Given the description of an element on the screen output the (x, y) to click on. 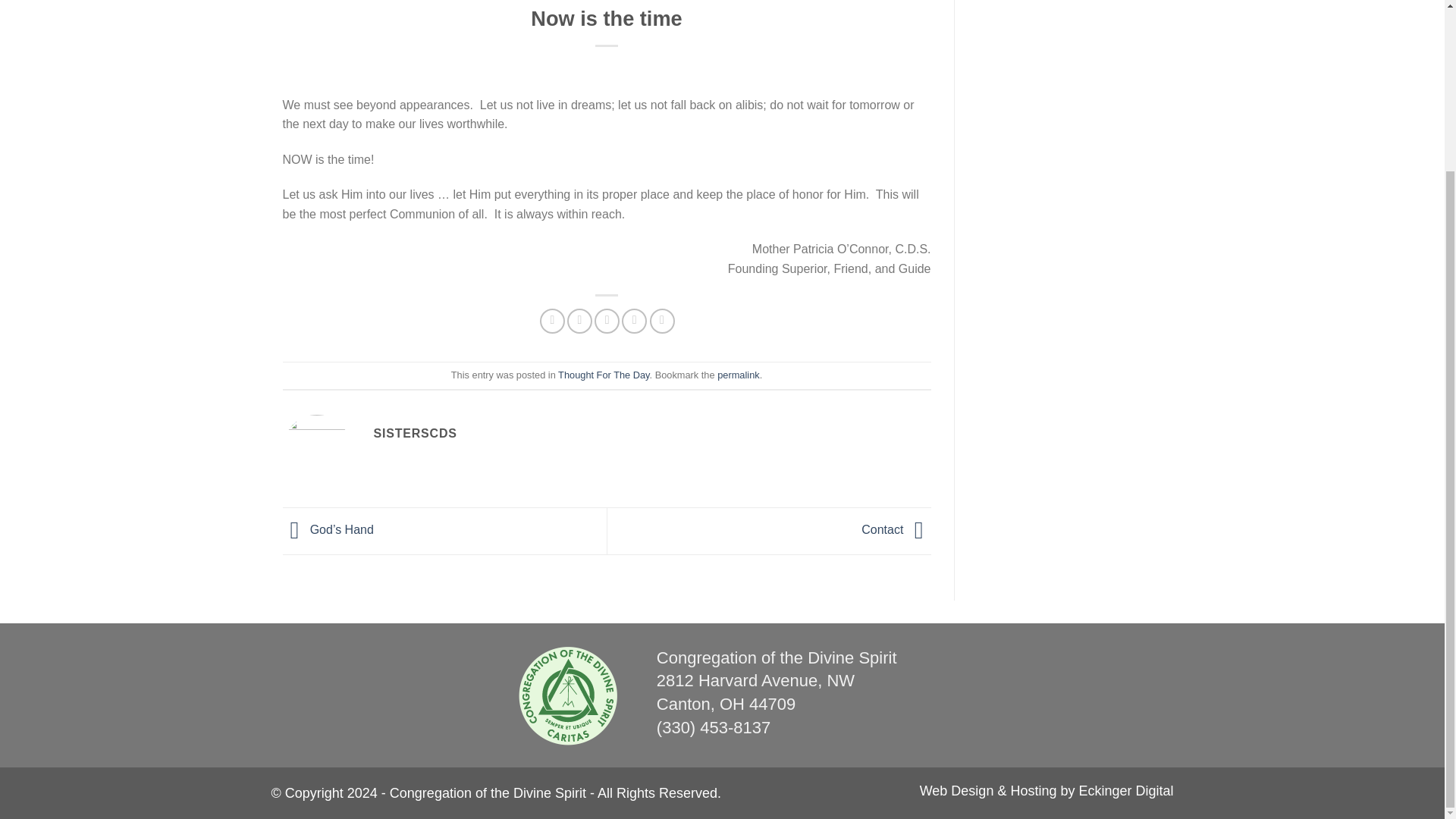
Share on Twitter (579, 320)
Share on Facebook (552, 320)
Share on LinkedIn (662, 320)
Permalink to Now is the time (737, 374)
Pin on Pinterest (633, 320)
Email to a Friend (607, 320)
